Given the description of an element on the screen output the (x, y) to click on. 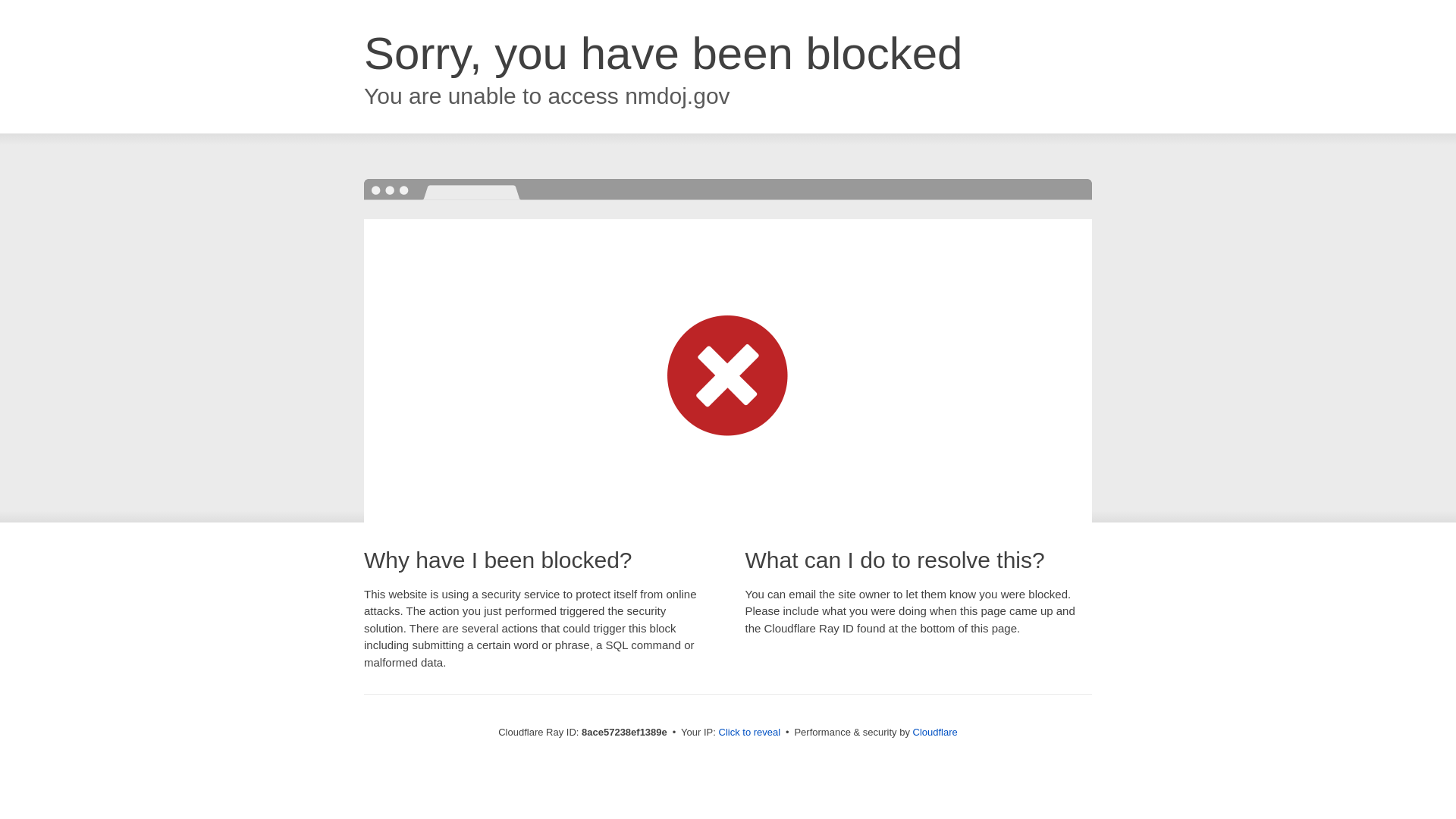
Cloudflare (935, 731)
Click to reveal (749, 732)
